Given the description of an element on the screen output the (x, y) to click on. 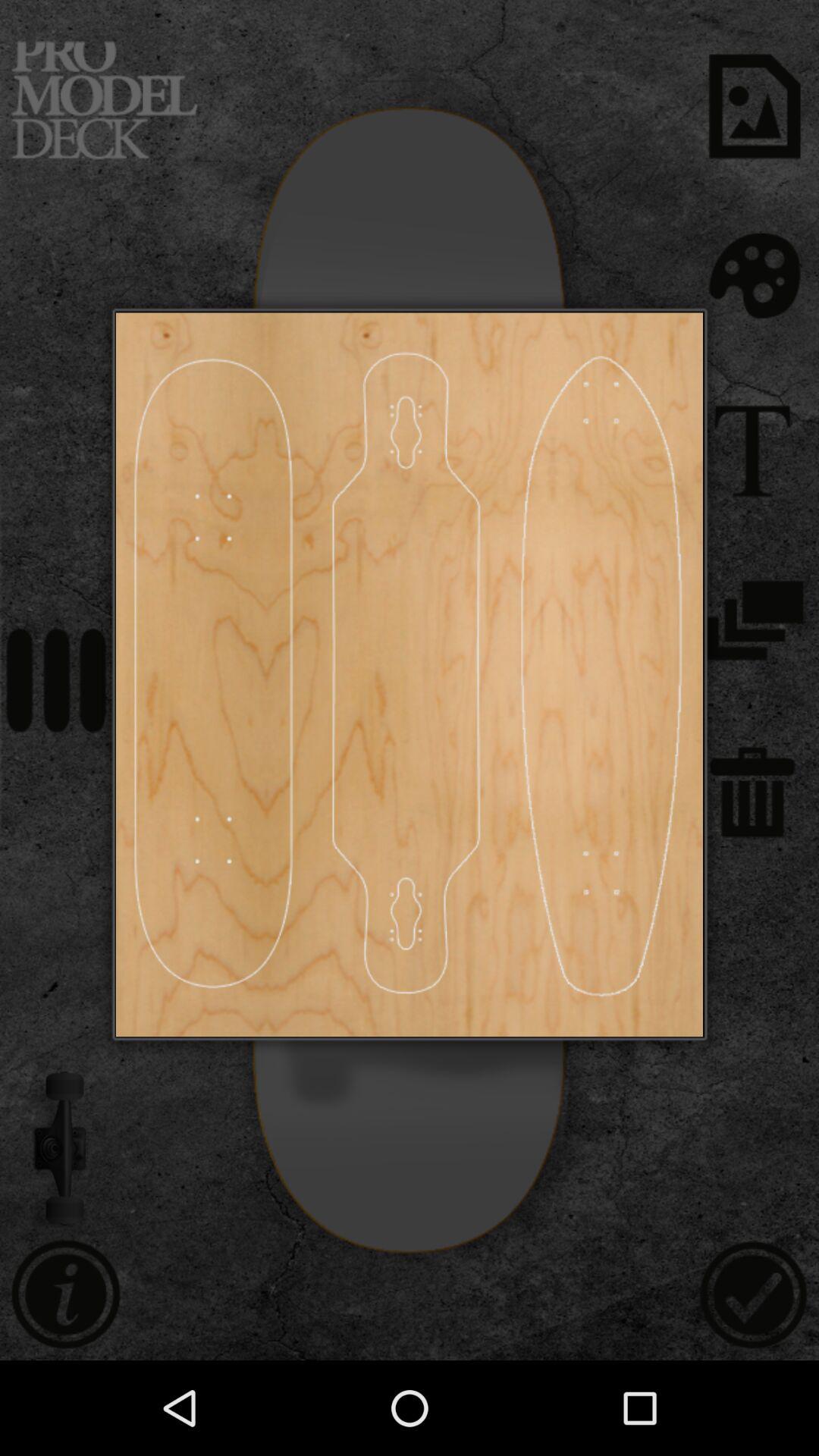
design option (406, 674)
